Given the description of an element on the screen output the (x, y) to click on. 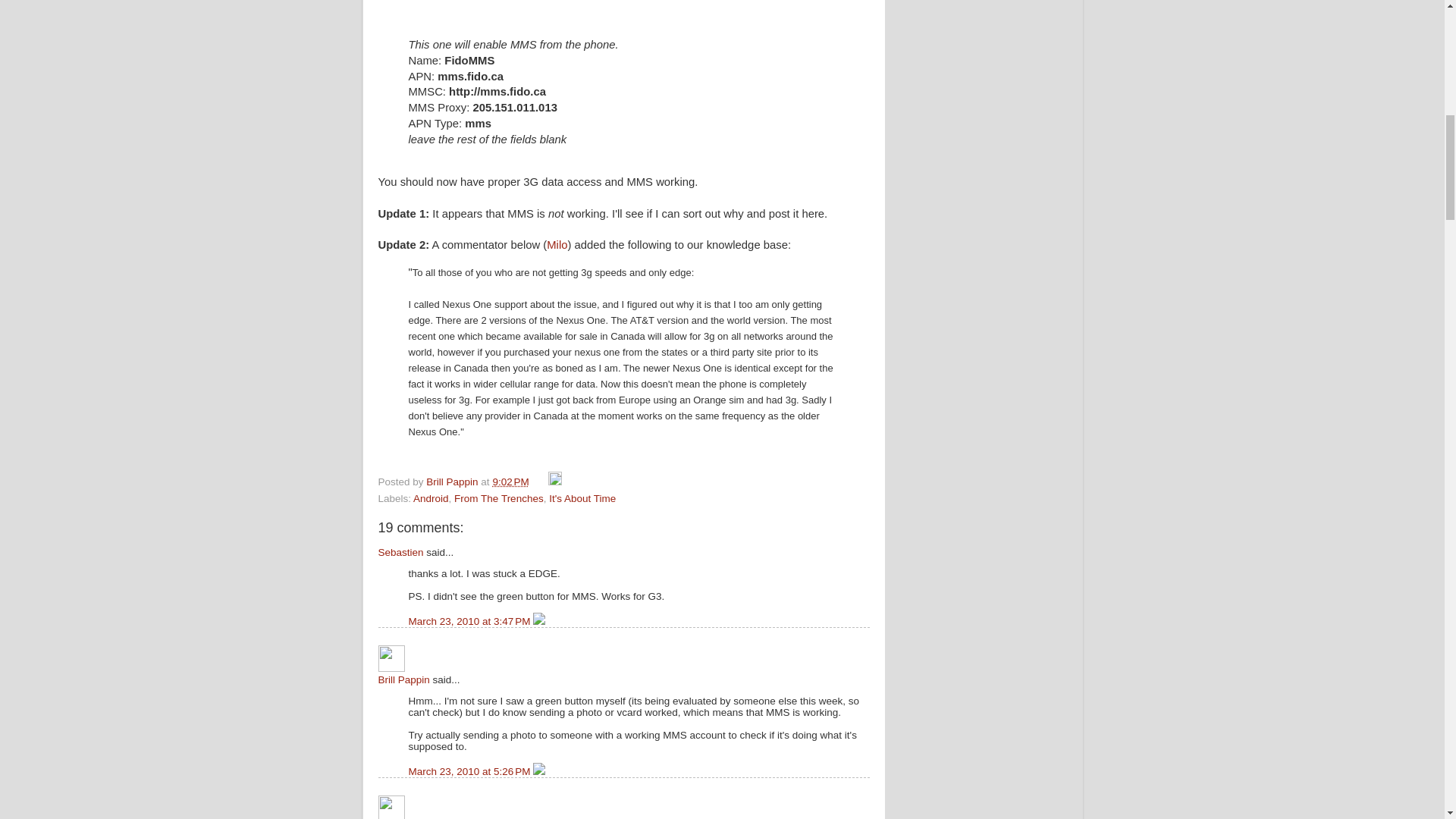
Milo (557, 244)
Email Post (540, 481)
Unknown (390, 807)
Sebastien (400, 552)
comment permalink (469, 621)
It's About Time (581, 498)
Edit Post (555, 481)
Brill Pappin (403, 679)
permanent link (510, 481)
Brill Pappin (453, 481)
Delete Comment (538, 621)
Brill Pappin (390, 658)
author profile (453, 481)
